Given the description of an element on the screen output the (x, y) to click on. 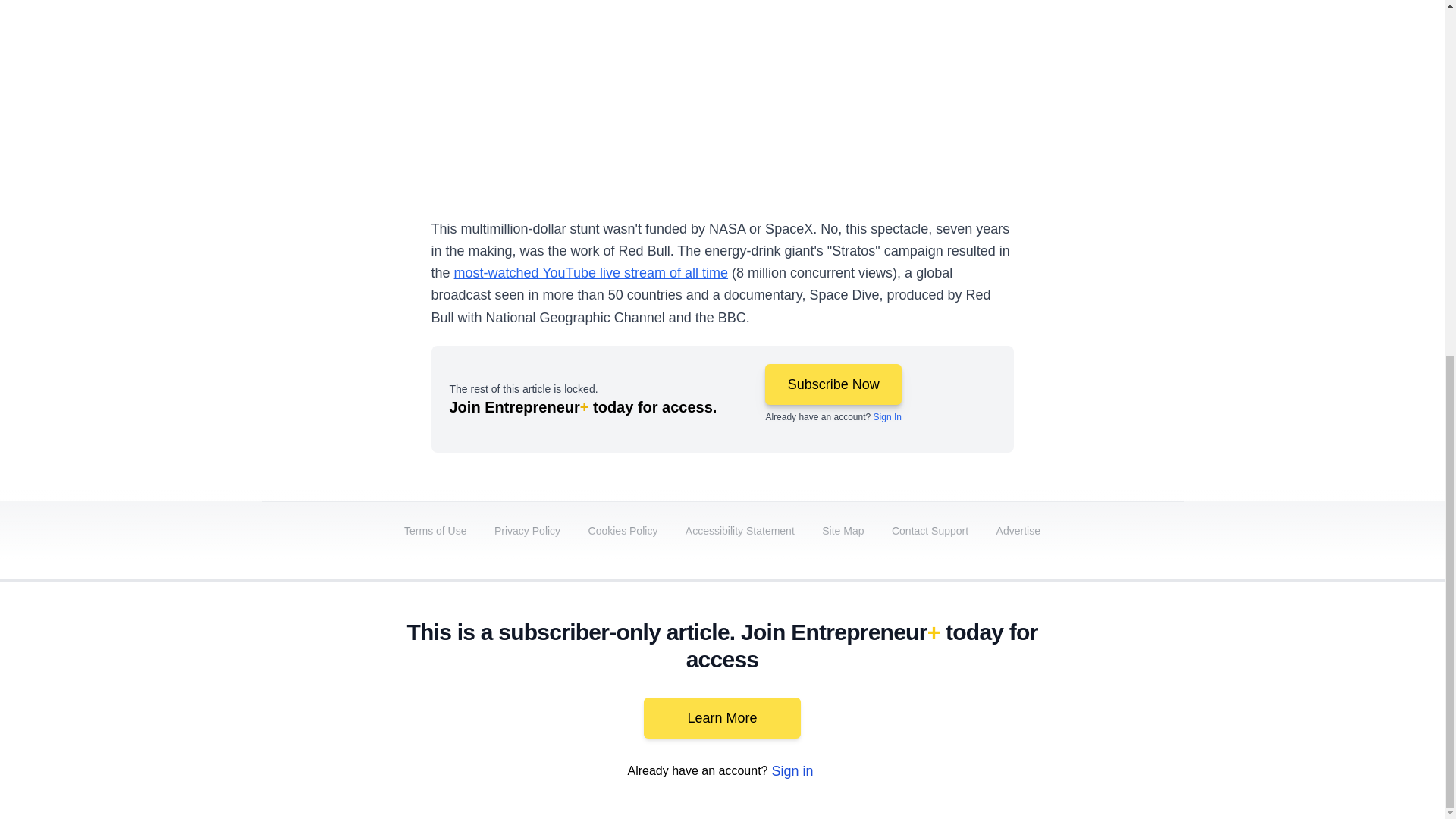
tiktok (1079, 691)
twitter (909, 691)
linkedin (952, 691)
youtube (994, 691)
rss (1164, 691)
snapchat (1121, 691)
instagram (1037, 691)
facebook (866, 691)
